Given the description of an element on the screen output the (x, y) to click on. 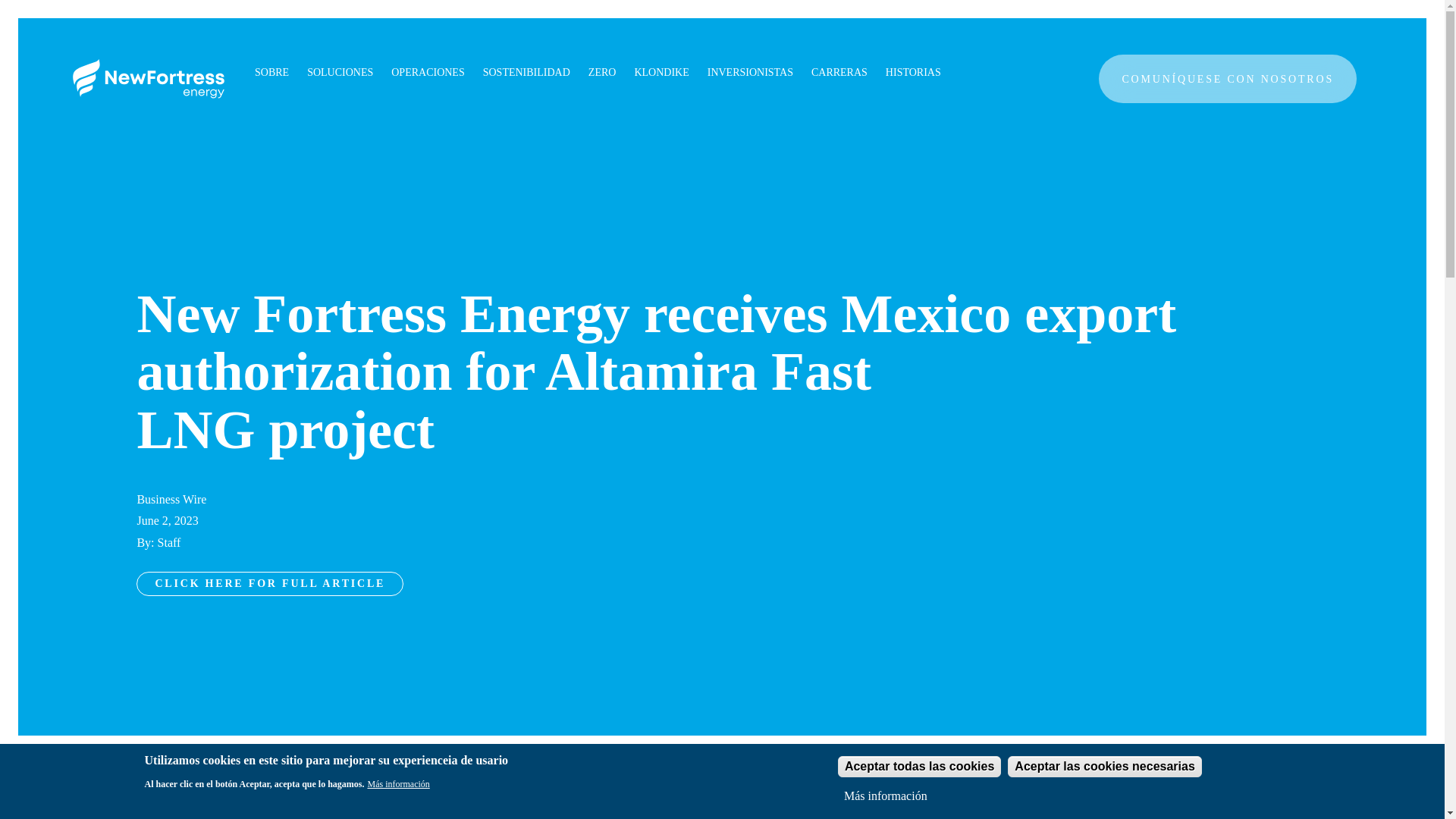
ANALYSTS (750, 92)
HISTORIAS (912, 72)
OVERVIEW (751, 92)
CLICK HERE FOR FULL ARTICLE (269, 583)
GMLP (735, 92)
ZERO (601, 72)
Back to New Fortress homepage (148, 78)
CARRERAS (838, 72)
EMAIL ALERTS (762, 92)
